Given the description of an element on the screen output the (x, y) to click on. 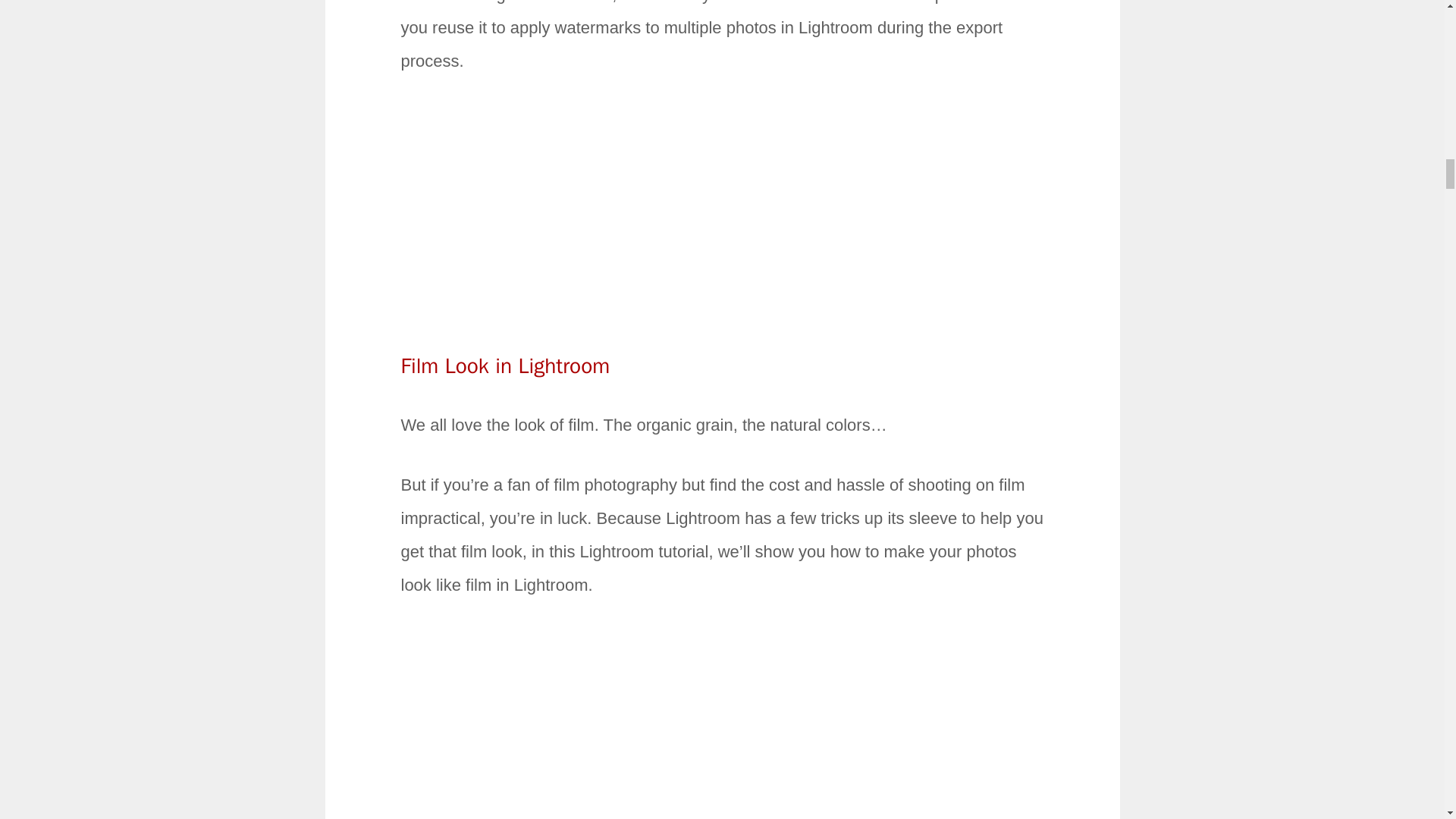
Film Look in Lightroom (505, 365)
